Given the description of an element on the screen output the (x, y) to click on. 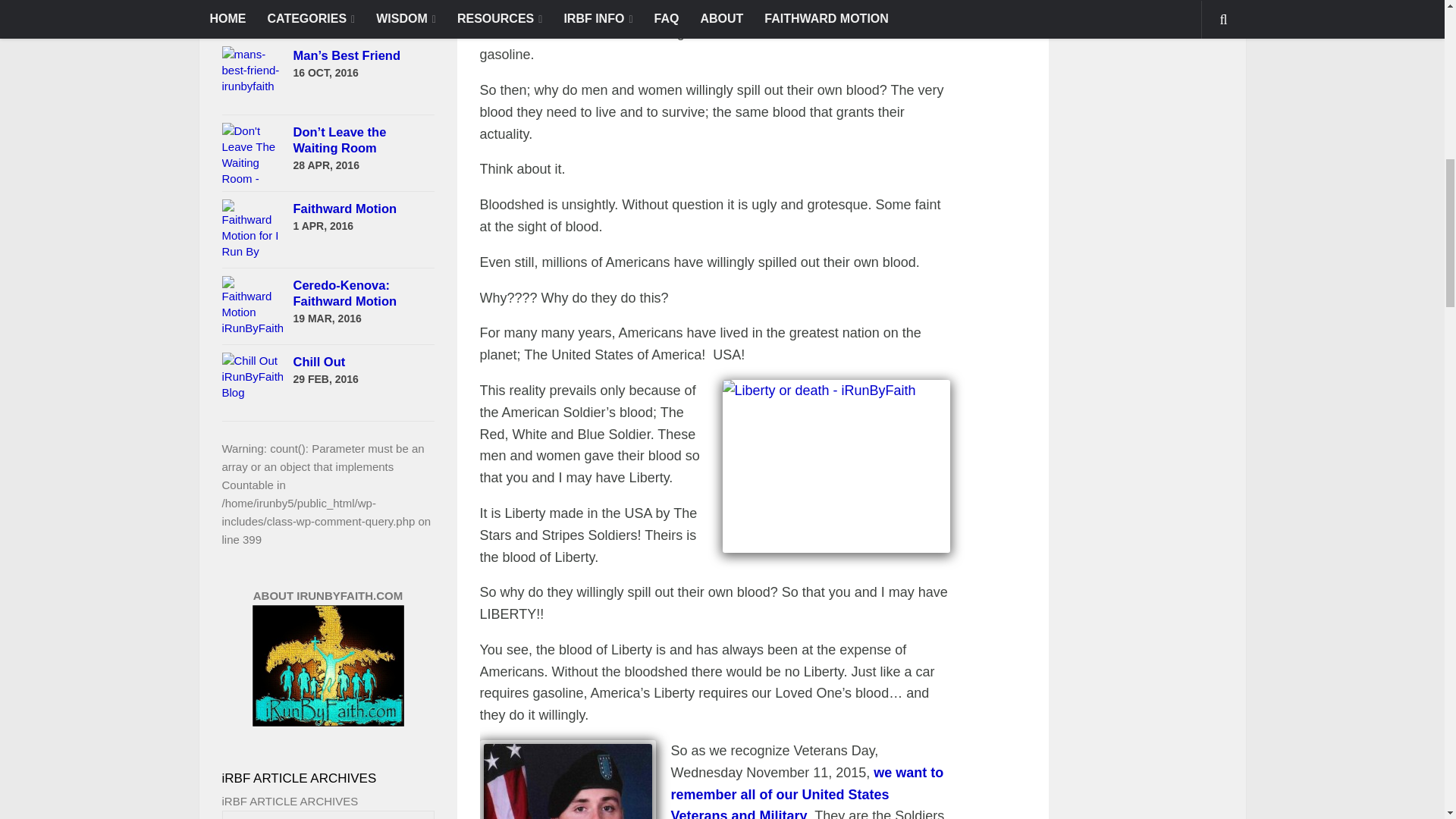
Recent Comments (353, 15)
Tags (406, 15)
Popular Posts (301, 15)
Recent Posts (248, 15)
